Given the description of an element on the screen output the (x, y) to click on. 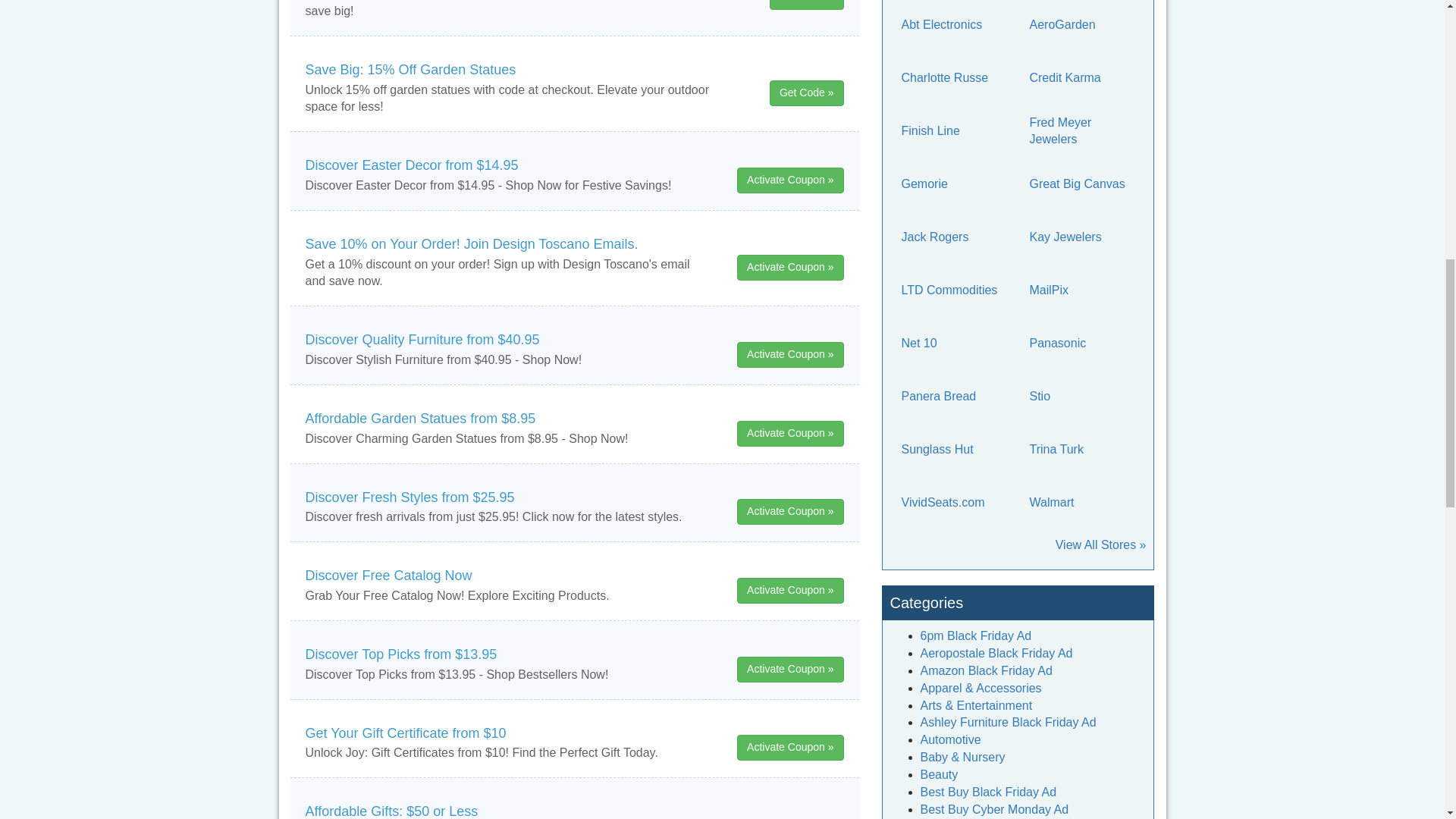
Trina Turk (1081, 449)
AeroGarden (1081, 24)
Great Big Canvas (1081, 184)
Credit Karma (1081, 77)
Fred Meyer Jewelers (1081, 130)
Panera Bread (953, 396)
Gemorie (953, 184)
VividSeats.com (953, 502)
Abt Electronics (953, 24)
Jack Rogers (953, 237)
Charlotte Russe (953, 77)
Sunglass Hut (953, 449)
Walmart (1081, 502)
MailPix (1081, 290)
Stio (1081, 396)
